Given the description of an element on the screen output the (x, y) to click on. 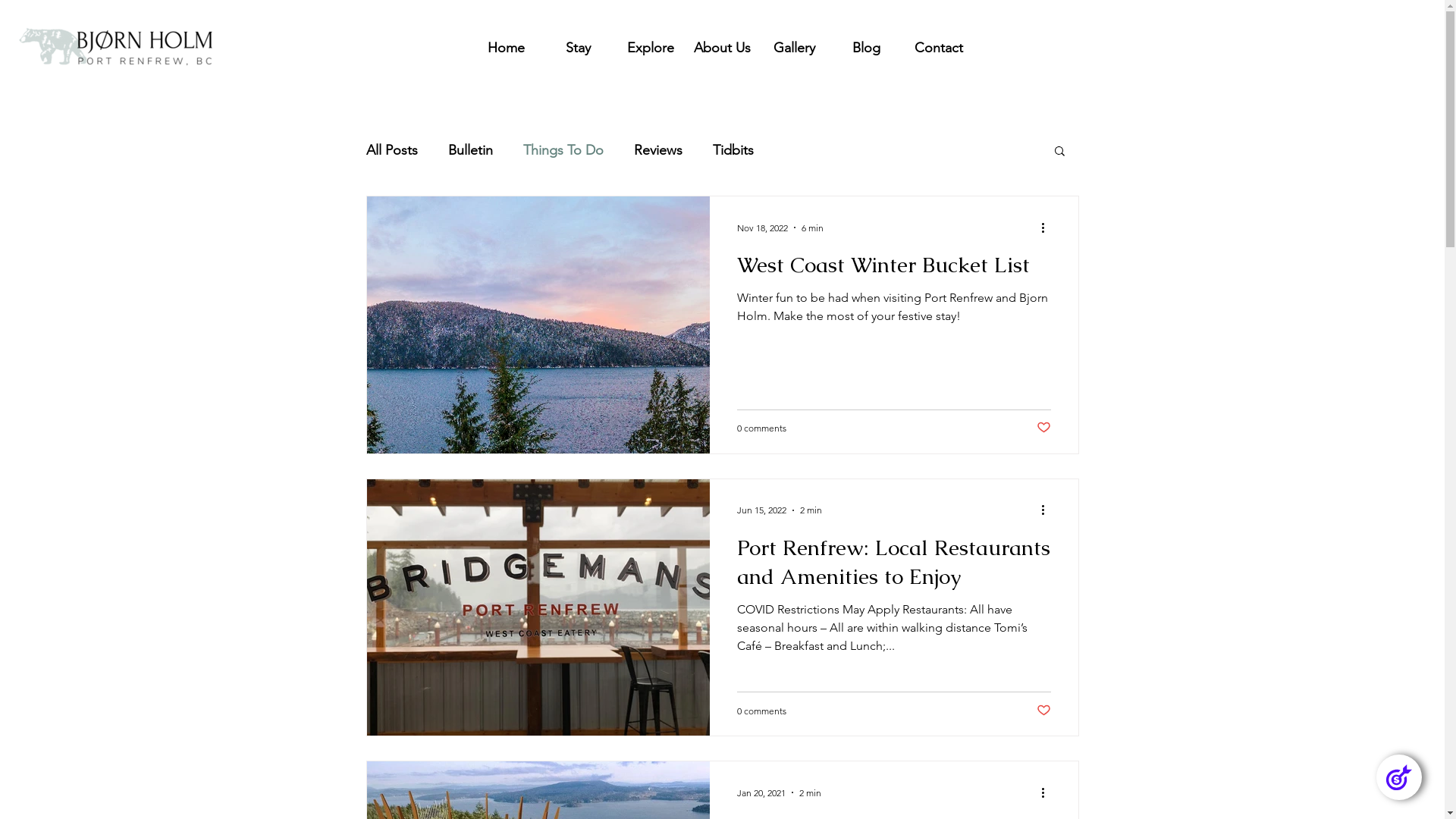
0 comments Element type: text (761, 427)
About Us Element type: text (722, 47)
Post not marked as liked Element type: text (1042, 428)
West Coast Winter Bucket List Element type: text (894, 268)
Stay Element type: text (578, 47)
Things To Do Element type: text (563, 149)
Gallery Element type: text (794, 47)
Bulletin Element type: text (469, 149)
Blog Element type: text (866, 47)
Explore Element type: text (650, 47)
Tidbits Element type: text (732, 149)
Reviews Element type: text (657, 149)
0 comments Element type: text (761, 710)
Home Element type: text (506, 47)
Port Renfrew: Local Restaurants and Amenities to Enjoy Element type: text (894, 566)
Post not marked as liked Element type: text (1042, 710)
All Posts Element type: text (391, 149)
Contact Element type: text (938, 47)
